Given the description of an element on the screen output the (x, y) to click on. 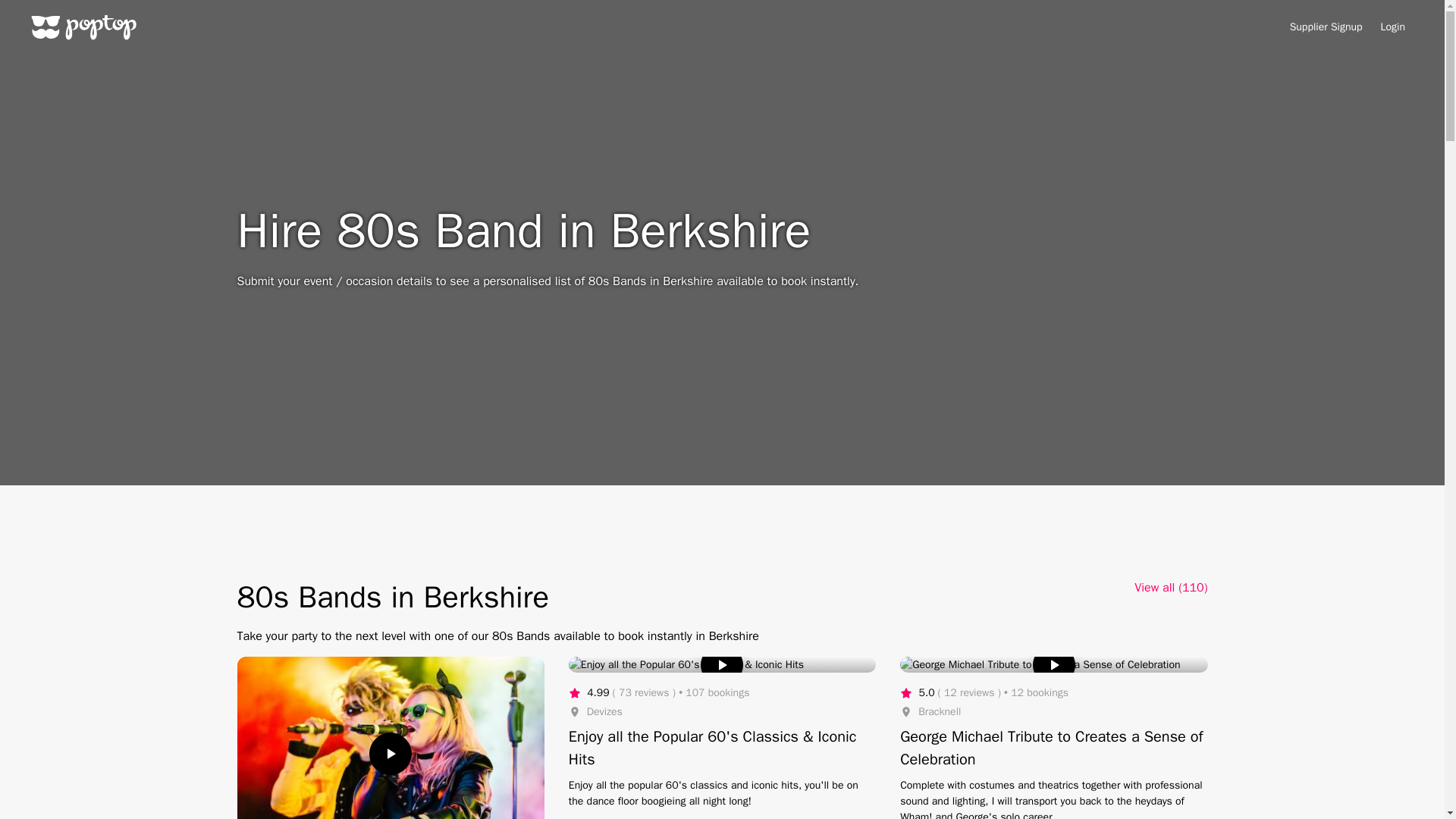
Login (1392, 26)
Supplier Signup (1326, 26)
